Given the description of an element on the screen output the (x, y) to click on. 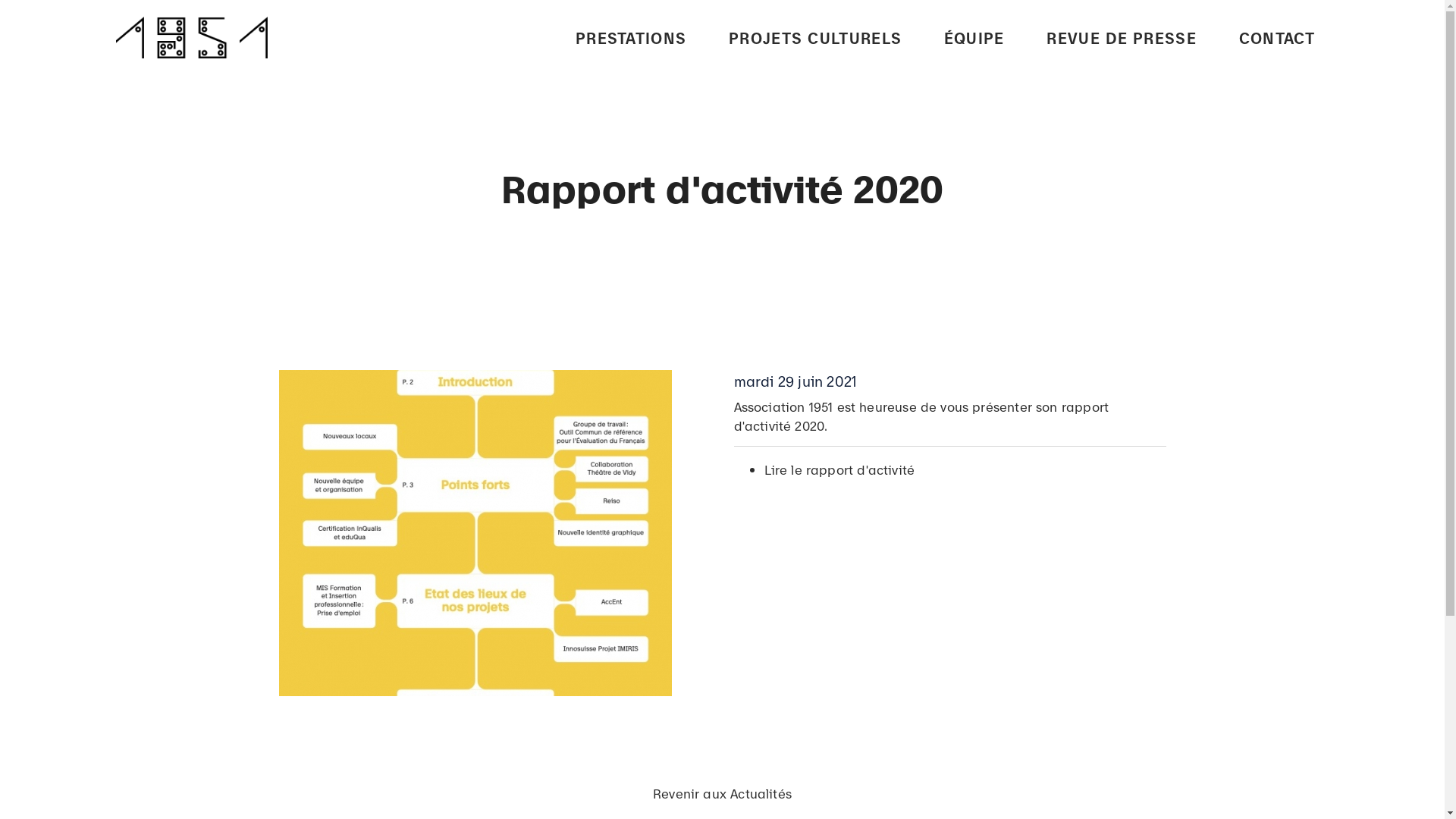
PRESTATIONS Element type: text (630, 36)
REVUE DE PRESSE Element type: text (1121, 36)
PROJETS CULTURELS Element type: text (814, 36)
CONTACT Element type: text (1277, 36)
ACCUEIL Element type: text (651, 256)
